Given the description of an element on the screen output the (x, y) to click on. 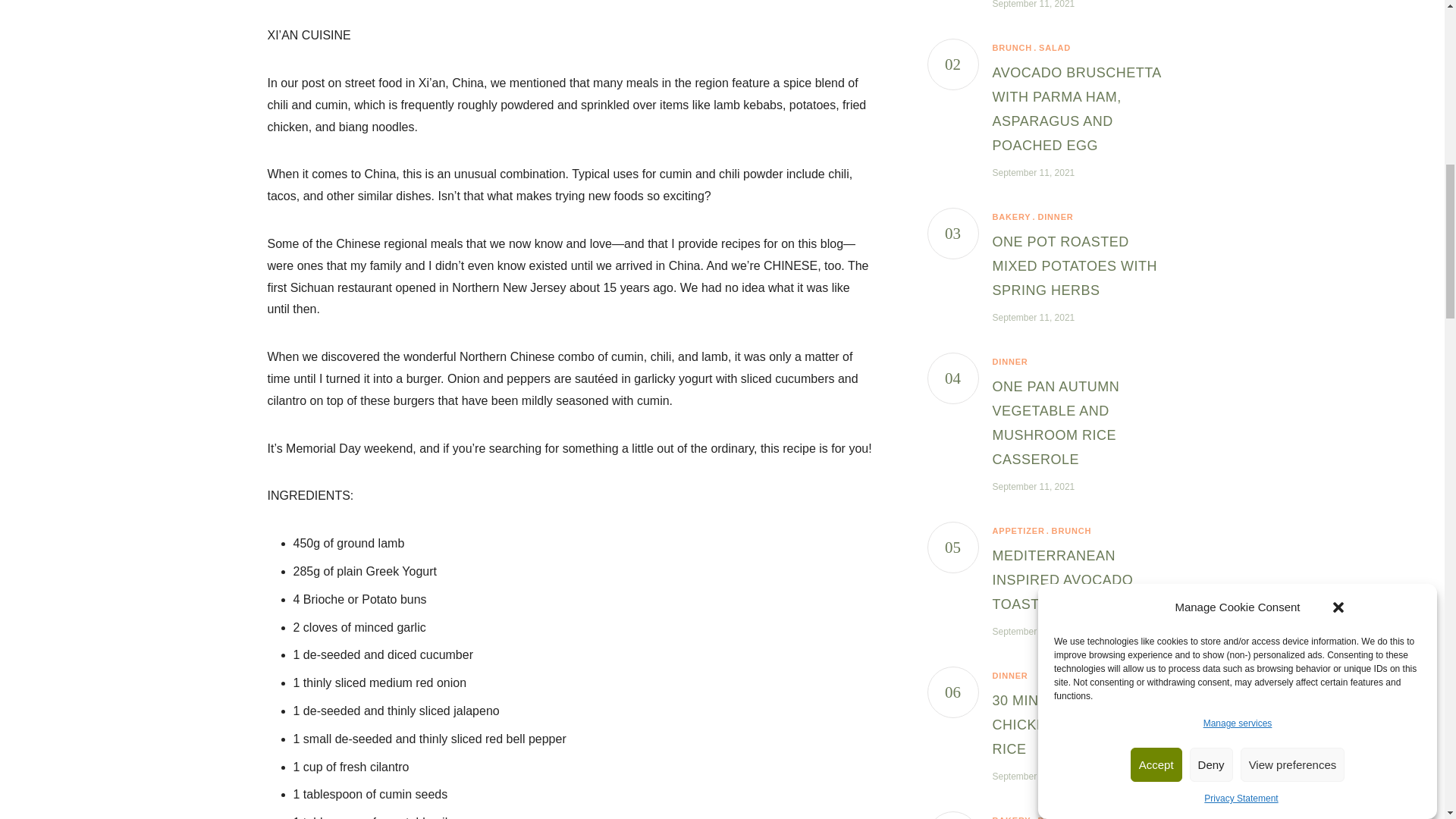
View preferences (1292, 119)
Accept (1156, 173)
Privacy Statement (1241, 75)
Manage services (1238, 251)
Deny (1211, 144)
